Given the description of an element on the screen output the (x, y) to click on. 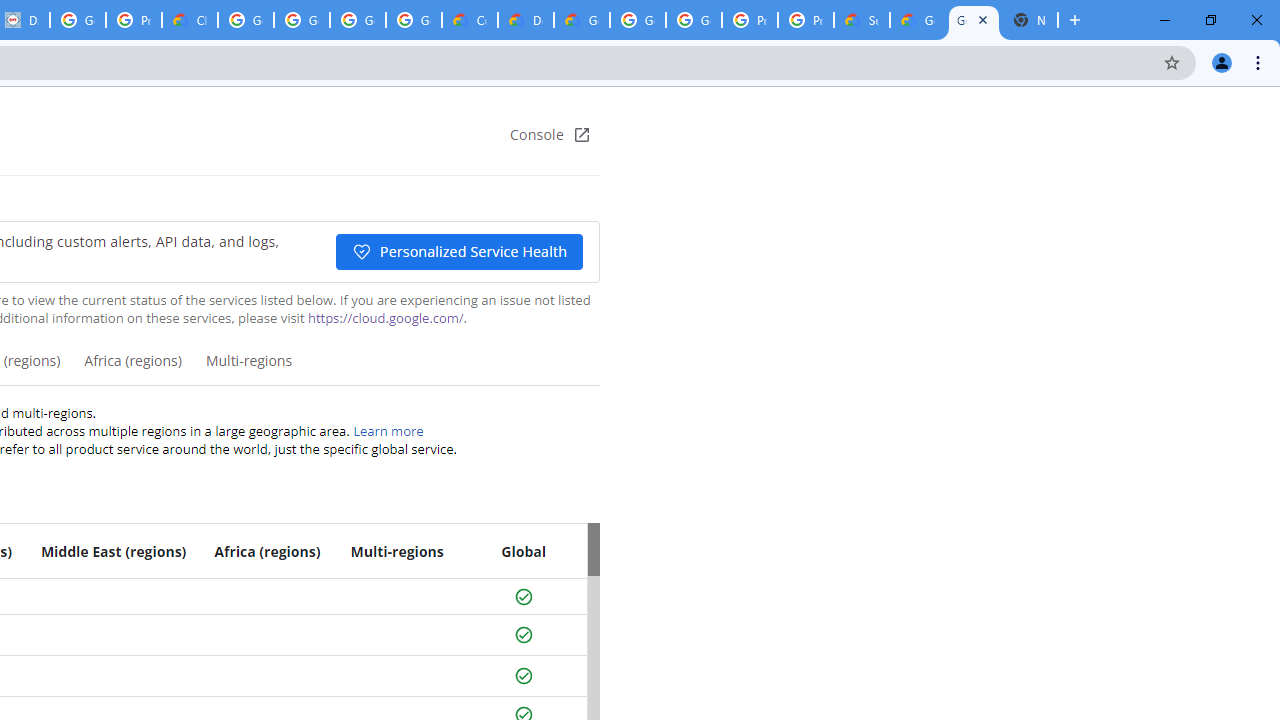
New Tab (1030, 20)
Learn more (388, 430)
Google Cloud Service Health (973, 20)
Google Workspace - Specific Terms (413, 20)
https://cloud.google.com/ (385, 318)
Cloud Data Processing Addendum | Google Cloud (189, 20)
Google Cloud Platform (637, 20)
